Given the description of an element on the screen output the (x, y) to click on. 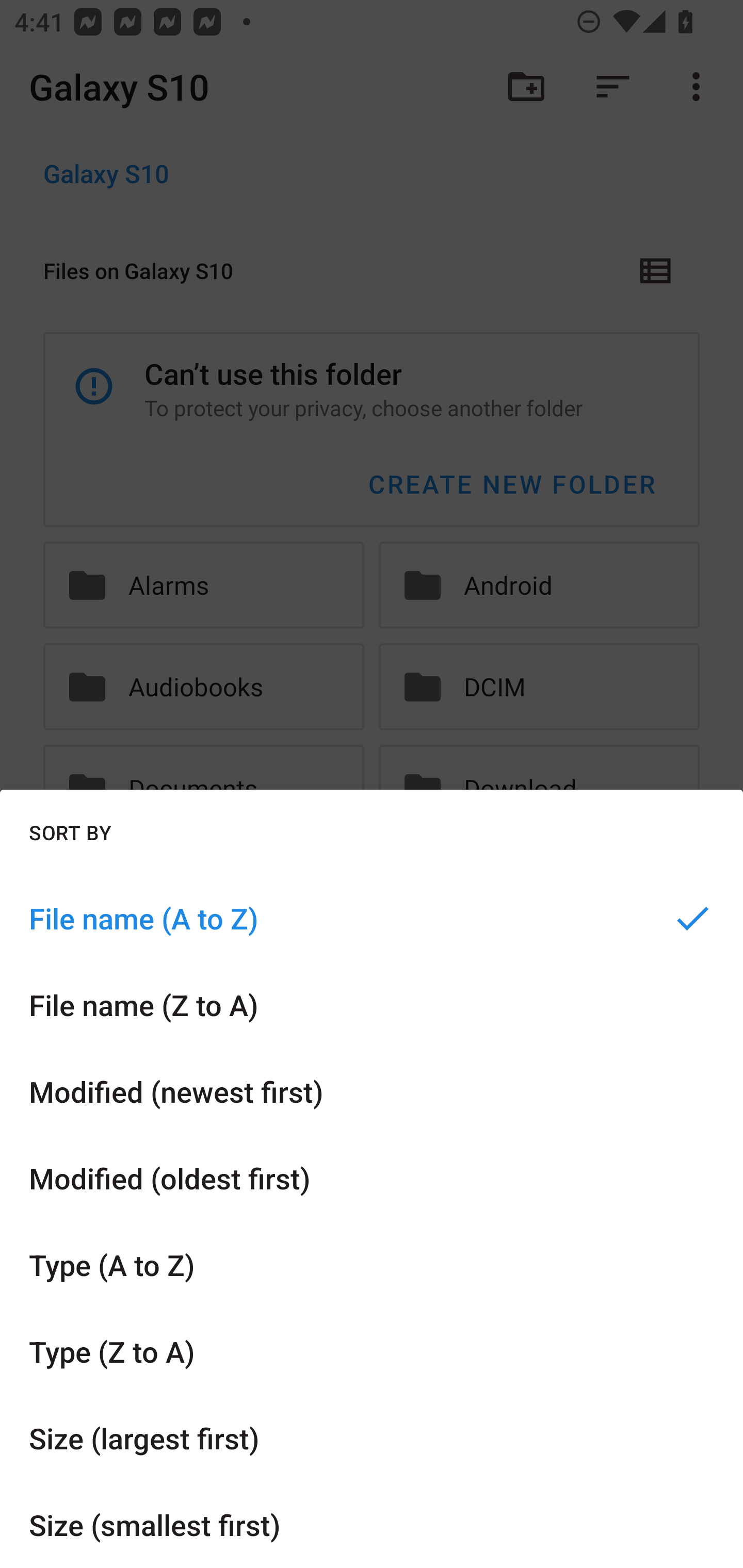
File name (A to Z) (371, 917)
File name (Z to A) (371, 1004)
Modified (newest first) (371, 1091)
Modified (oldest first) (371, 1178)
Type (A to Z) (371, 1264)
Type (Z to A) (371, 1350)
Size (largest first) (371, 1437)
Size (smallest first) (371, 1524)
